Given the description of an element on the screen output the (x, y) to click on. 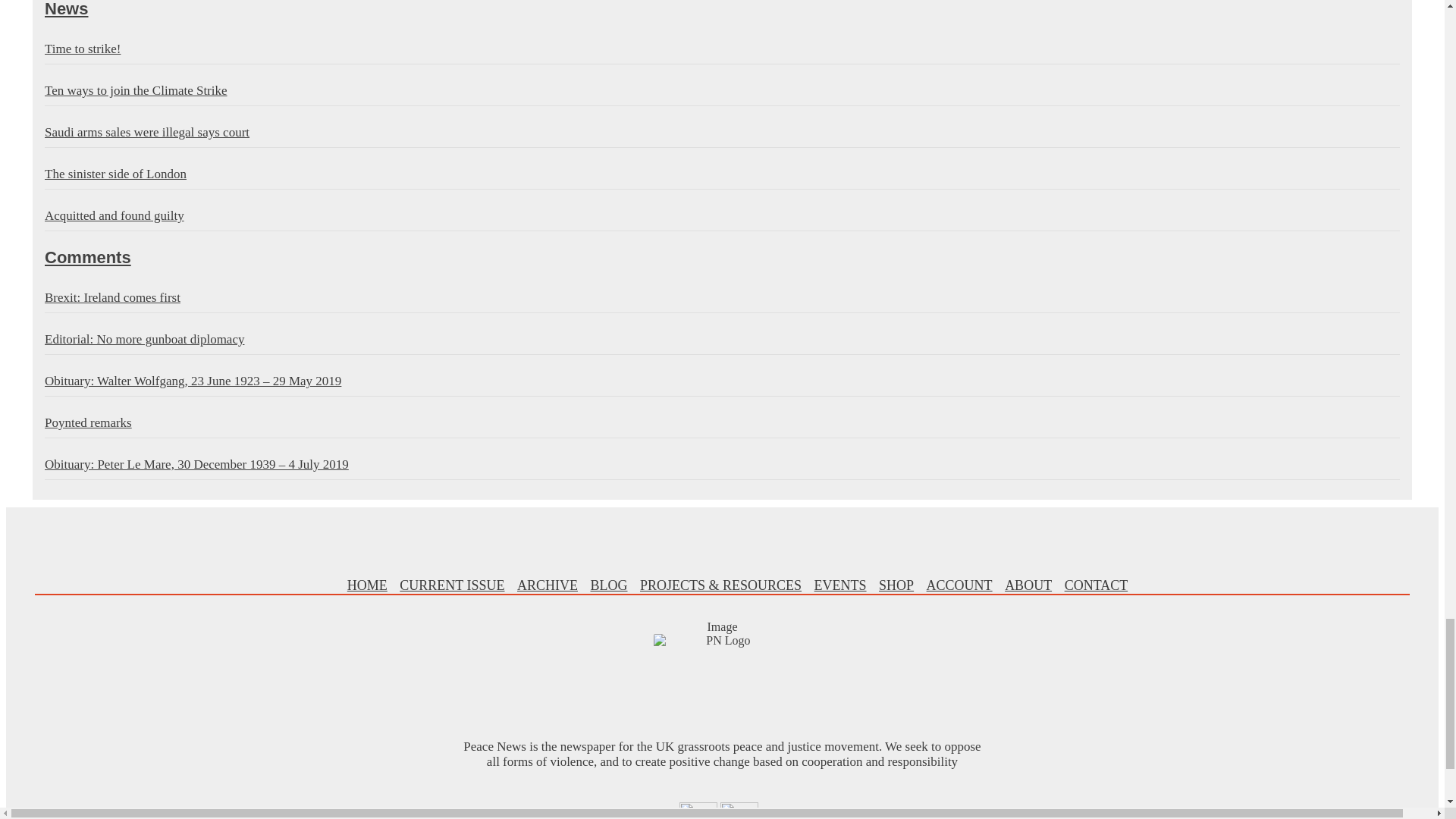
Issues (451, 585)
News (722, 9)
shop (896, 585)
Our work (720, 585)
About (1028, 585)
Time to strike! (722, 50)
